Given the description of an element on the screen output the (x, y) to click on. 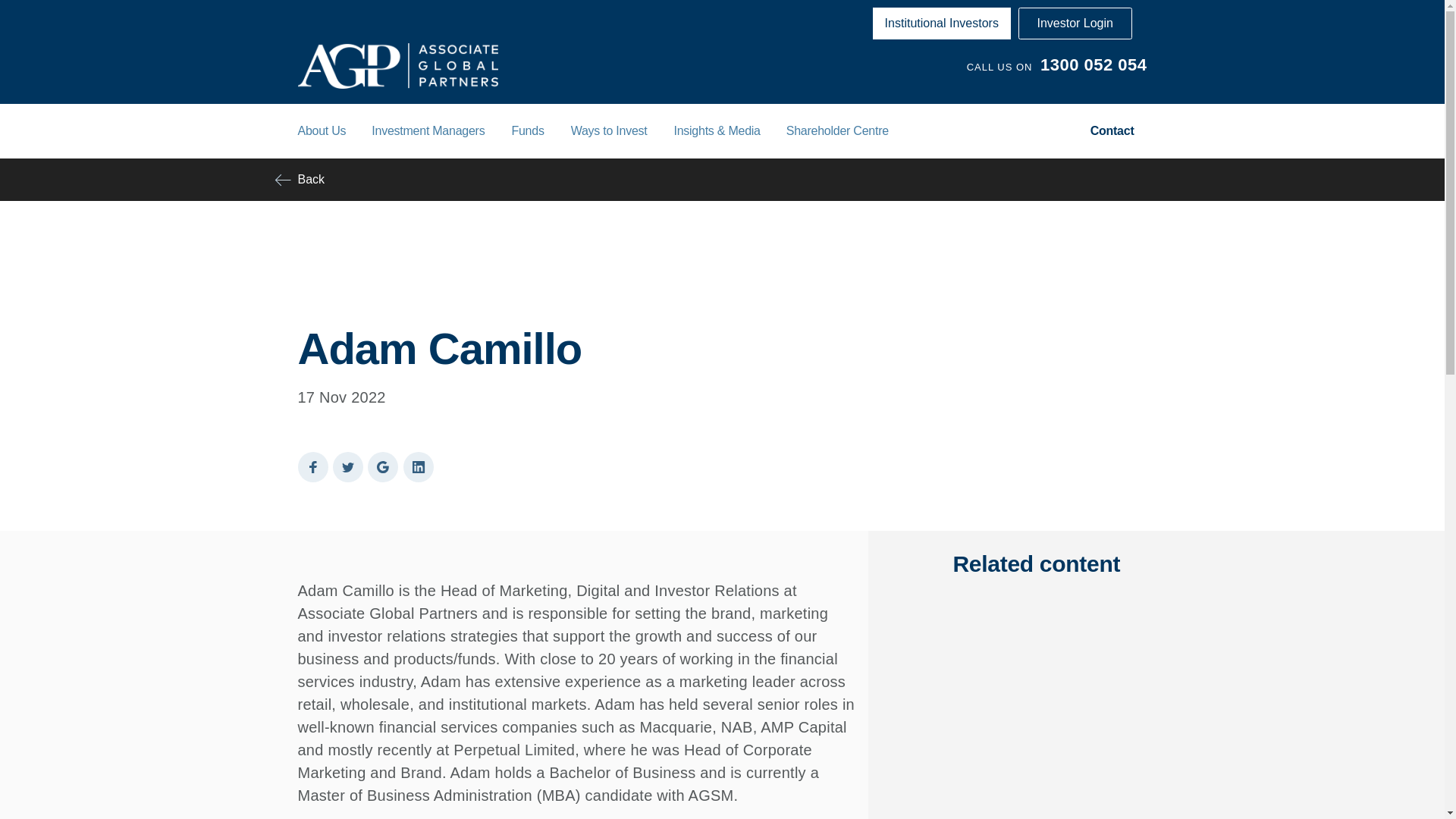
Funds (527, 130)
Shareholder Centre (837, 130)
Back (722, 179)
Institutional Investors (941, 23)
Ways to Invest (608, 130)
Investment Managers (427, 130)
1300 052 054 (1094, 64)
About Us (321, 130)
Contact (1112, 130)
Investor Login (1075, 23)
